Given the description of an element on the screen output the (x, y) to click on. 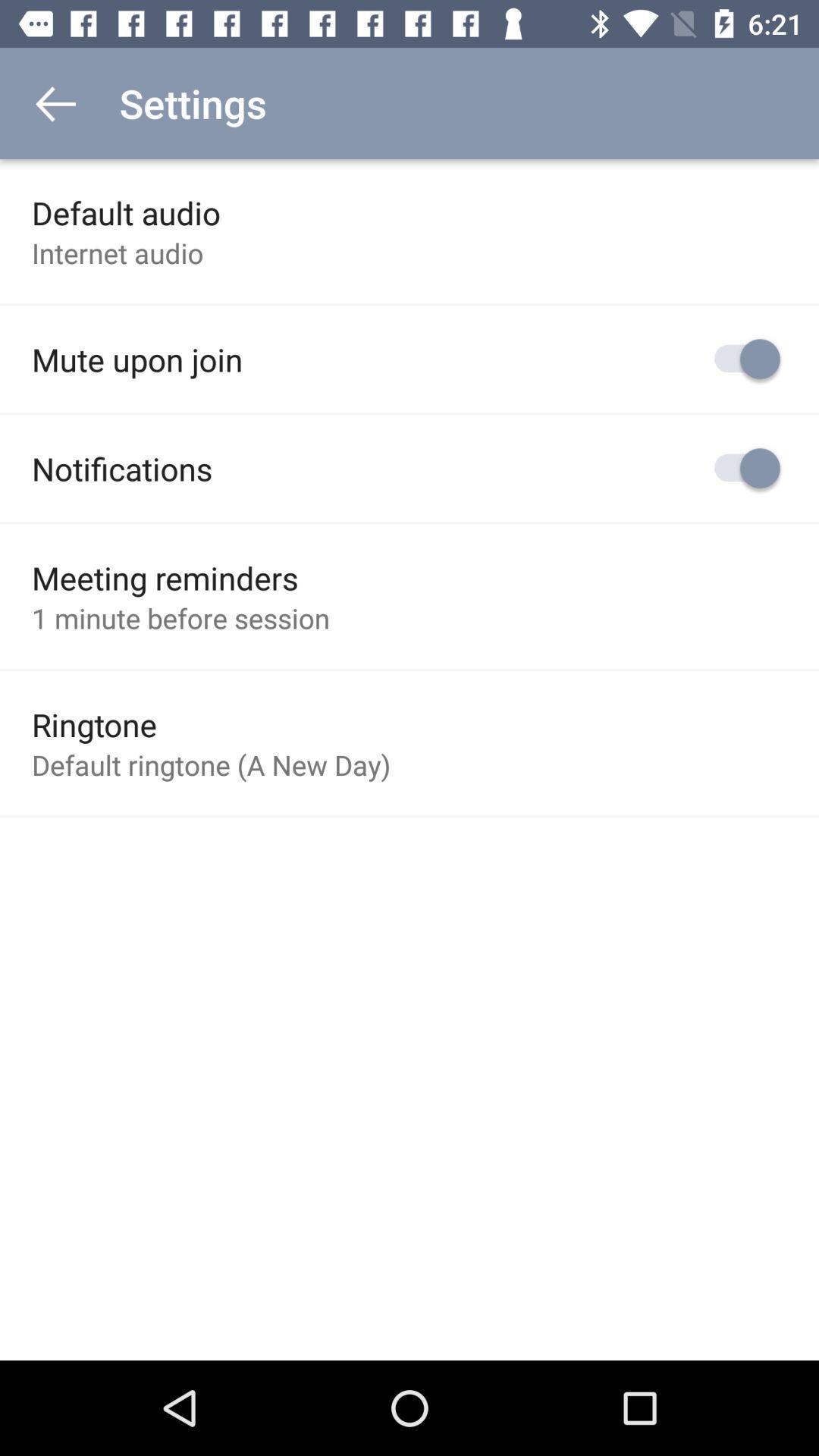
launch meeting reminders (164, 577)
